Given the description of an element on the screen output the (x, y) to click on. 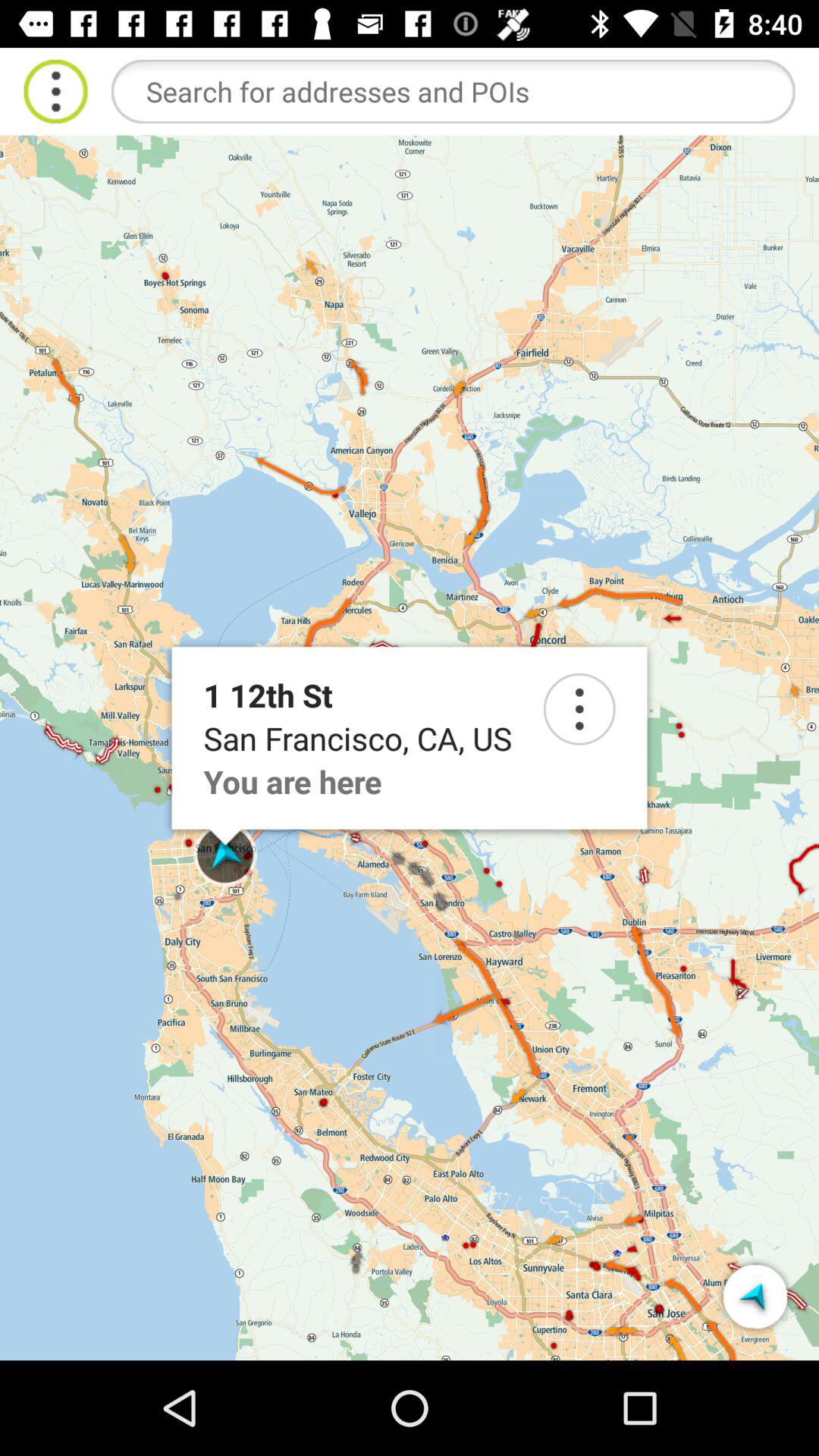
route way (755, 1296)
